Given the description of an element on the screen output the (x, y) to click on. 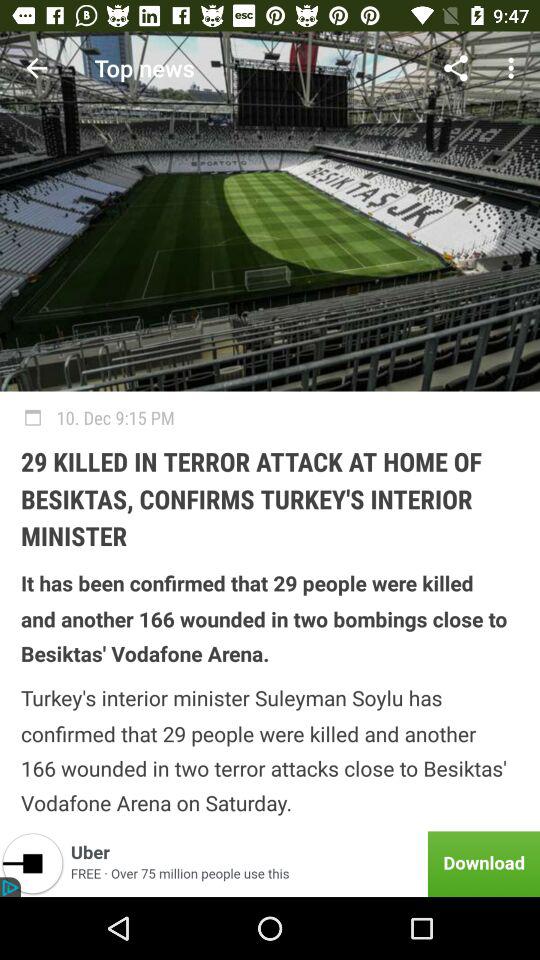
tap item below the turkey s interior icon (270, 863)
